Given the description of an element on the screen output the (x, y) to click on. 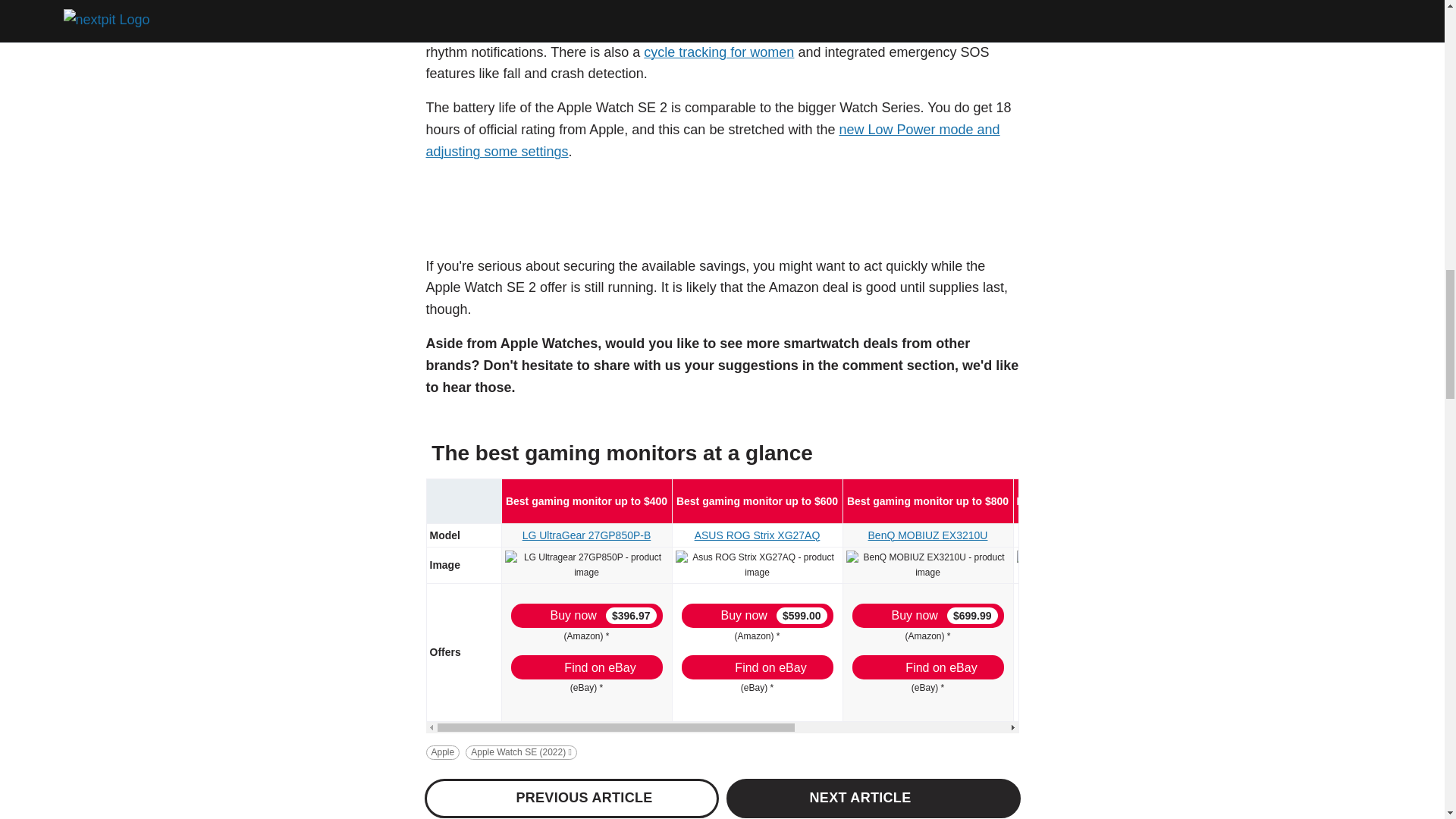
Asus ROG Swift PG27AQDM (1101, 564)
Asus ROG Strix XG27AQ (756, 564)
Gigabyte M32U (1280, 557)
LG Ultragear 27GP850P (586, 564)
BenQ MOBIUZ EX3210U (927, 564)
